Given the description of an element on the screen output the (x, y) to click on. 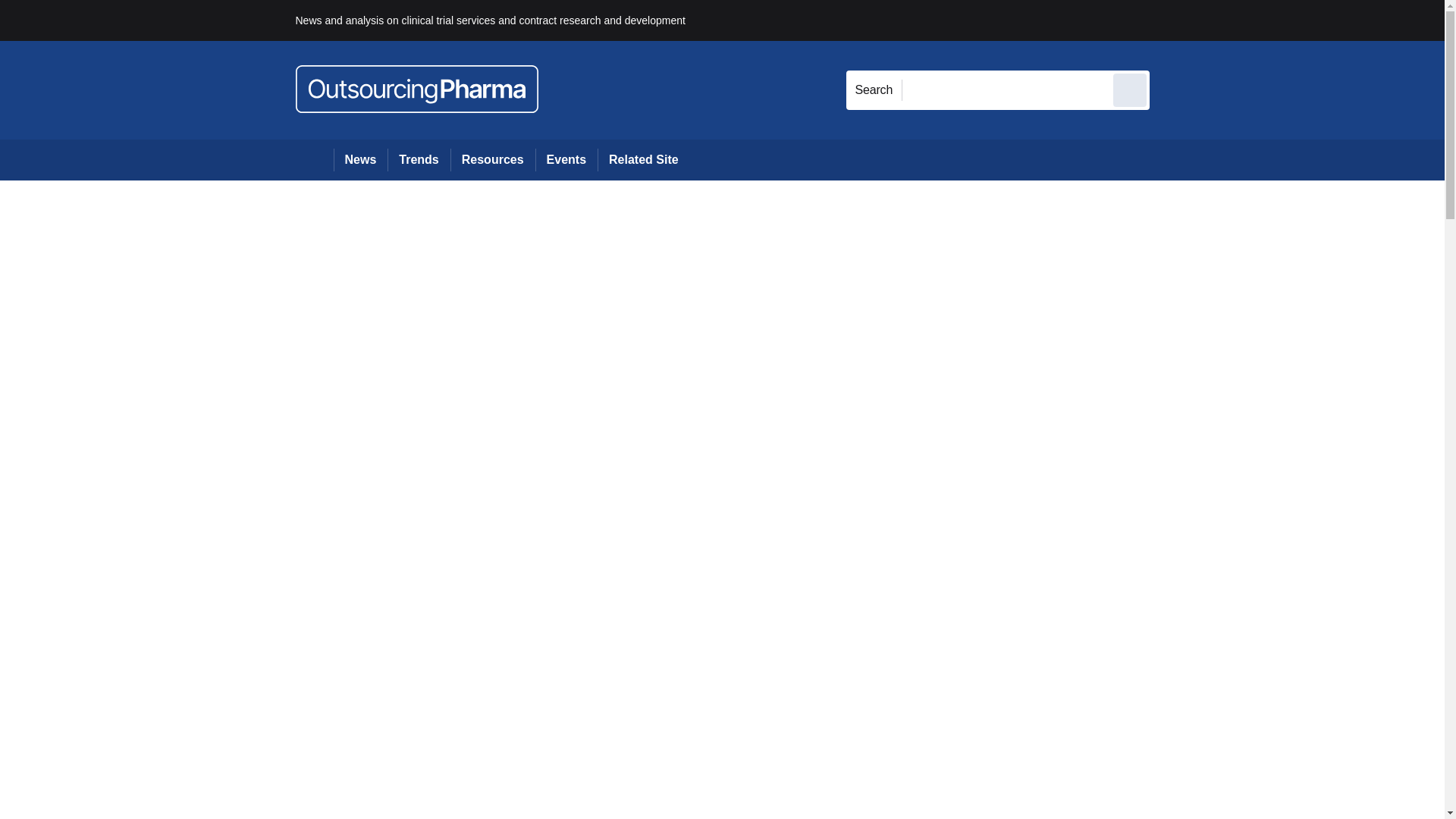
Sign out (1174, 20)
Sign in (1171, 20)
Home (314, 159)
Resources (492, 159)
OutsourcingPharma (416, 89)
Send (1129, 90)
Trends (418, 159)
REGISTER (1250, 20)
My account (1256, 20)
News (360, 159)
